Given the description of an element on the screen output the (x, y) to click on. 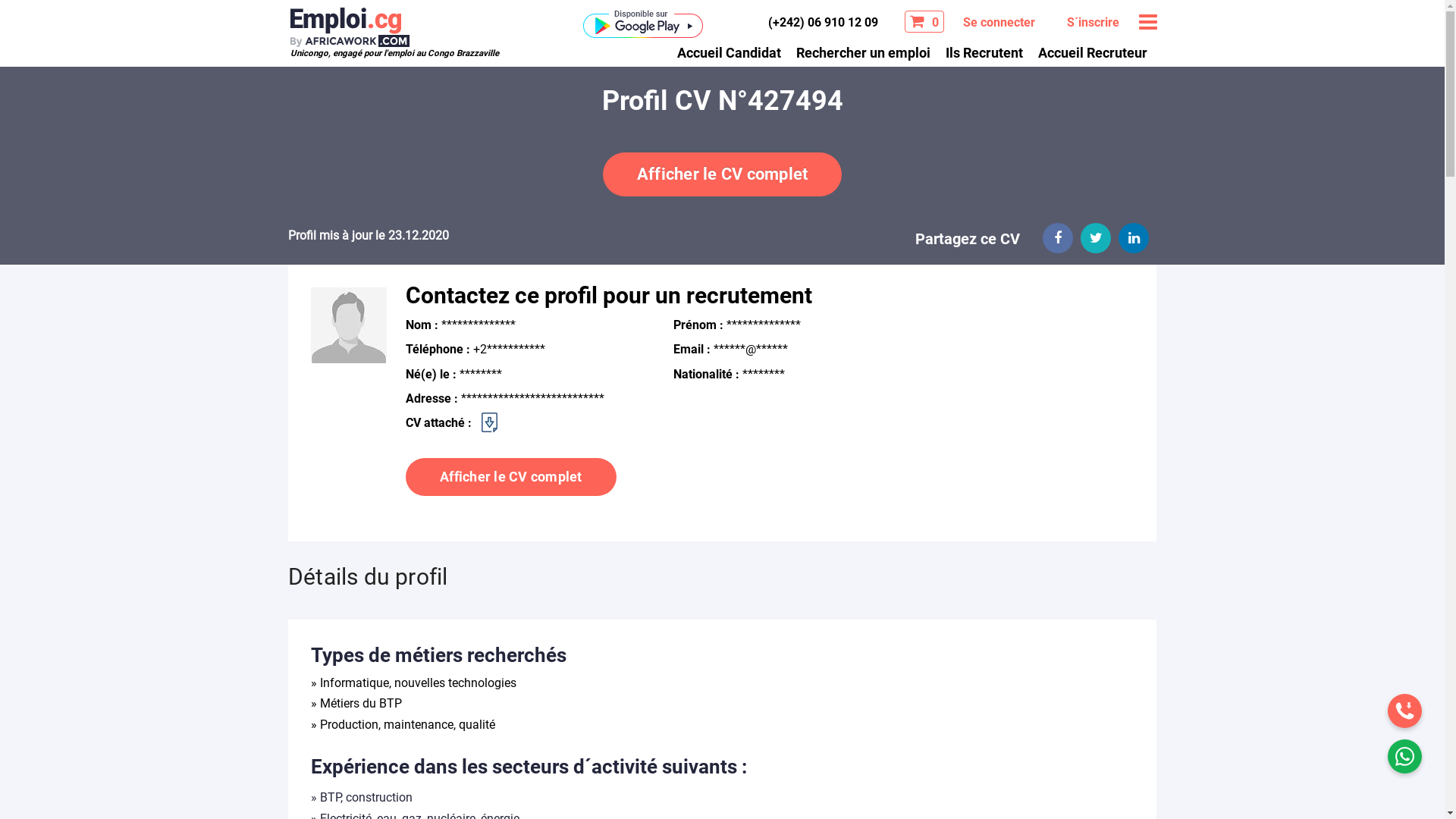
Ils Recrutent Element type: text (983, 51)
Accueil Candidat Element type: text (727, 51)
Afficher le CV complet Element type: text (722, 174)
0 Element type: text (923, 21)
Se connecter Element type: text (997, 22)
Afficher le CV complet Element type: text (510, 477)
Rechercher un emploi Element type: text (863, 51)
Accueil Recruteur Element type: text (1091, 51)
(+242) 06 910 12 09 Element type: text (822, 22)
